Given the description of an element on the screen output the (x, y) to click on. 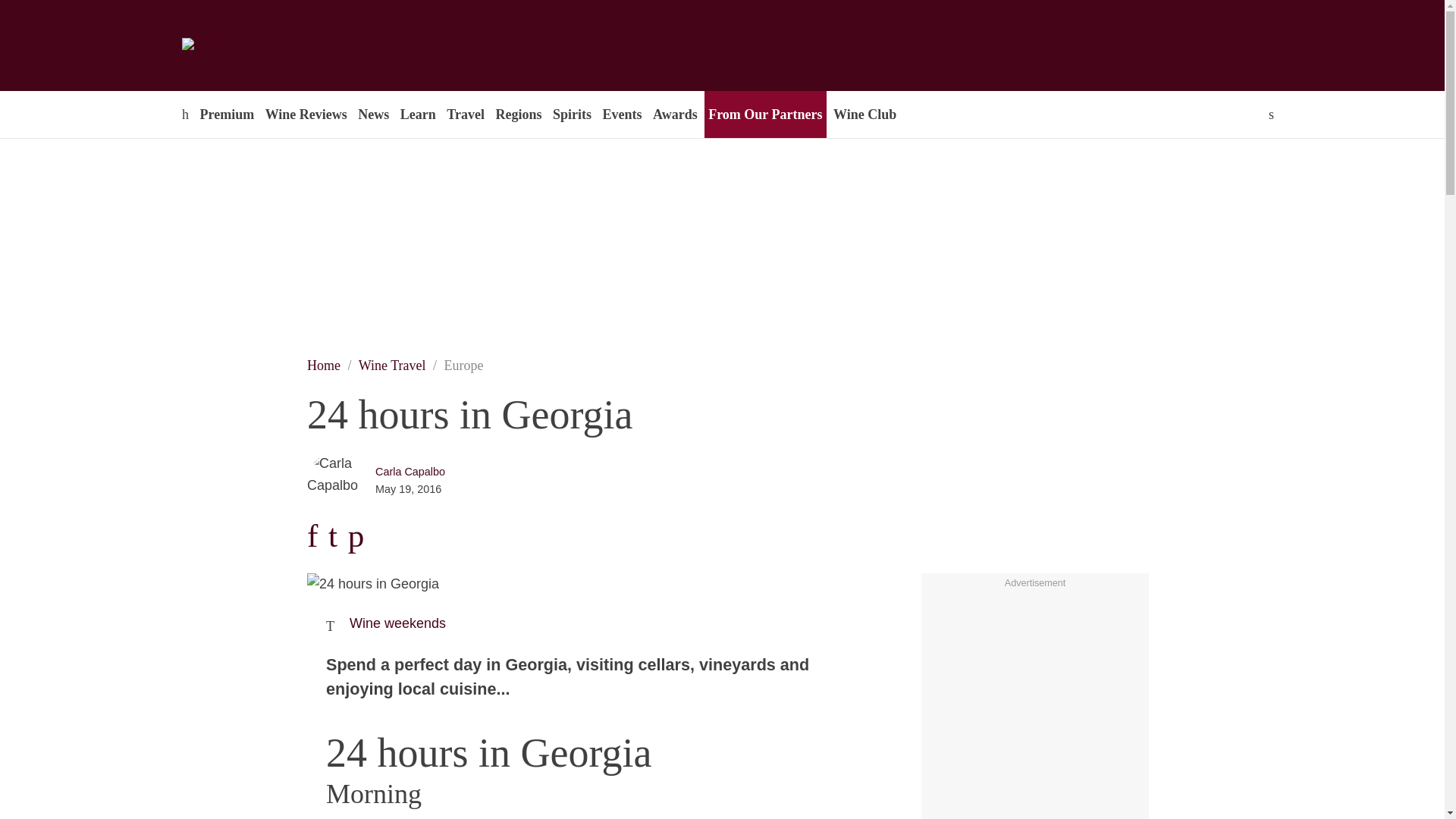
Learn (417, 114)
Travel (464, 114)
Wine Reviews (306, 114)
Premium (226, 114)
Awards (675, 114)
Decanter (297, 45)
